Given the description of an element on the screen output the (x, y) to click on. 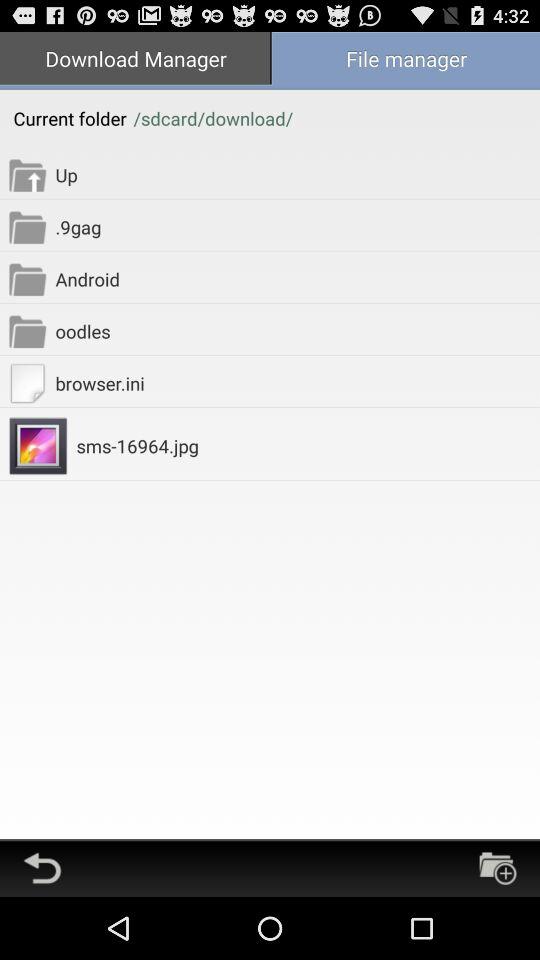
press the browser.ini app (297, 382)
